Given the description of an element on the screen output the (x, y) to click on. 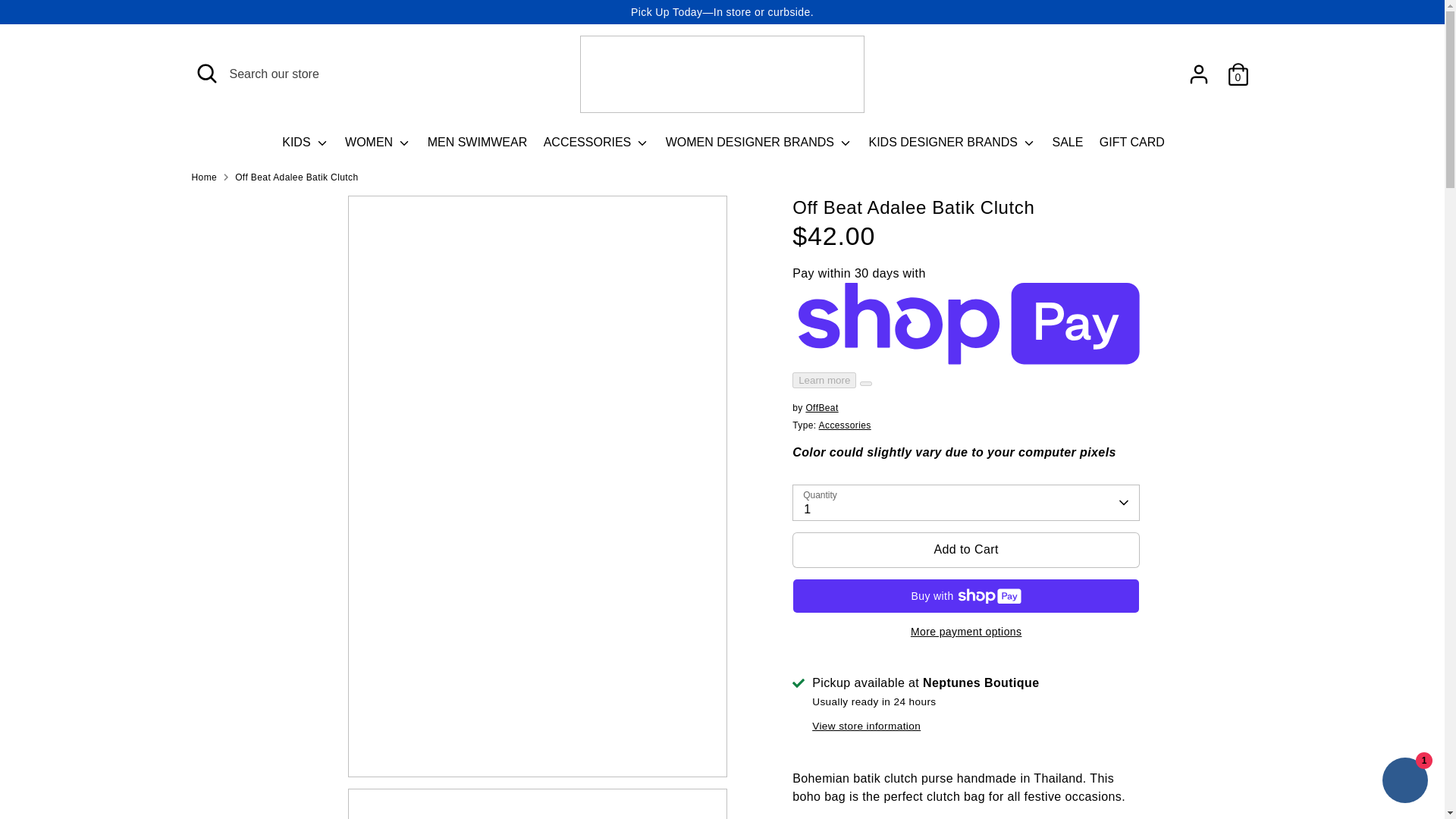
0 (1237, 73)
Shopify online store chat (1404, 781)
